Given the description of an element on the screen output the (x, y) to click on. 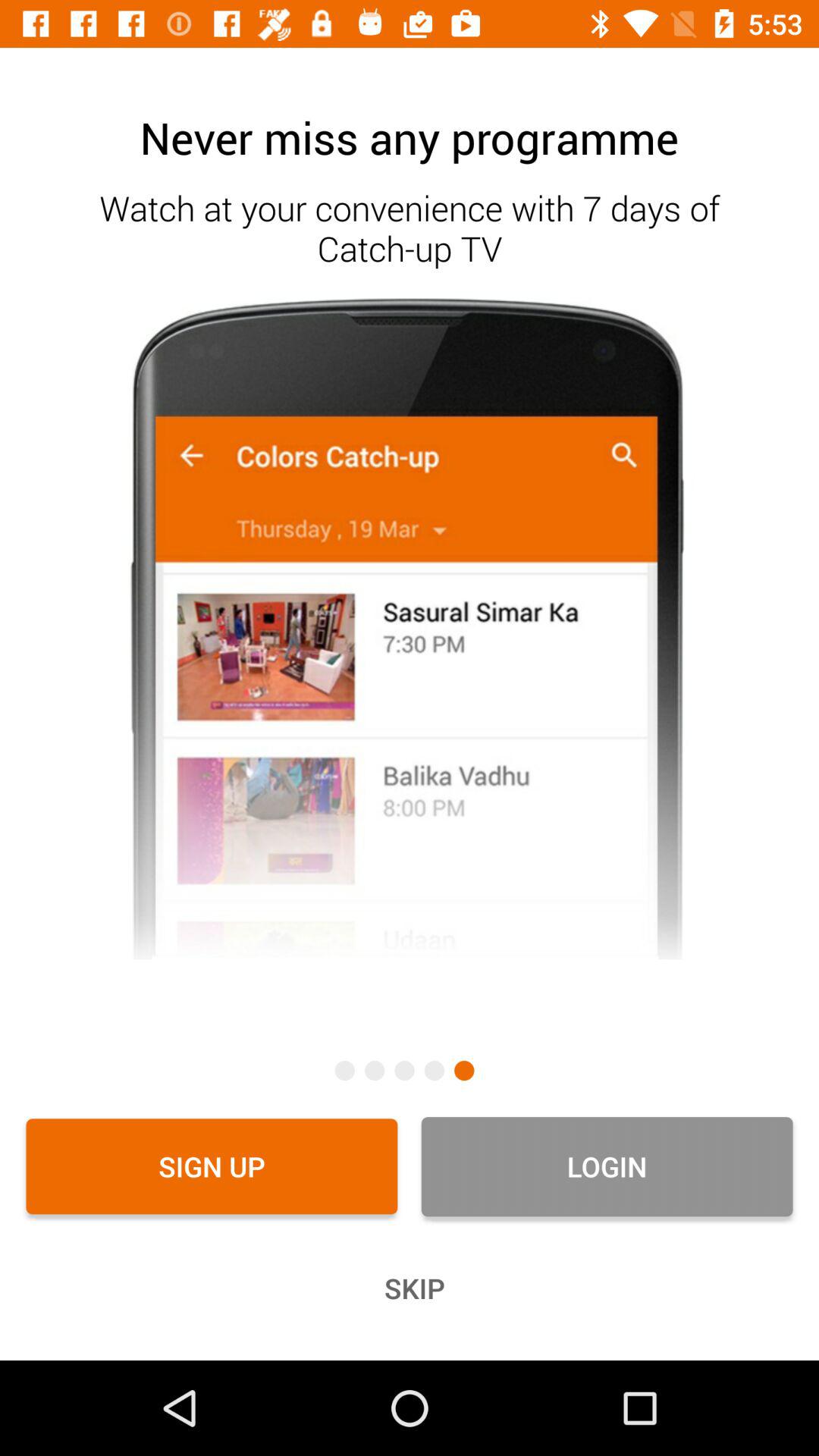
select sign up item (211, 1166)
